Given the description of an element on the screen output the (x, y) to click on. 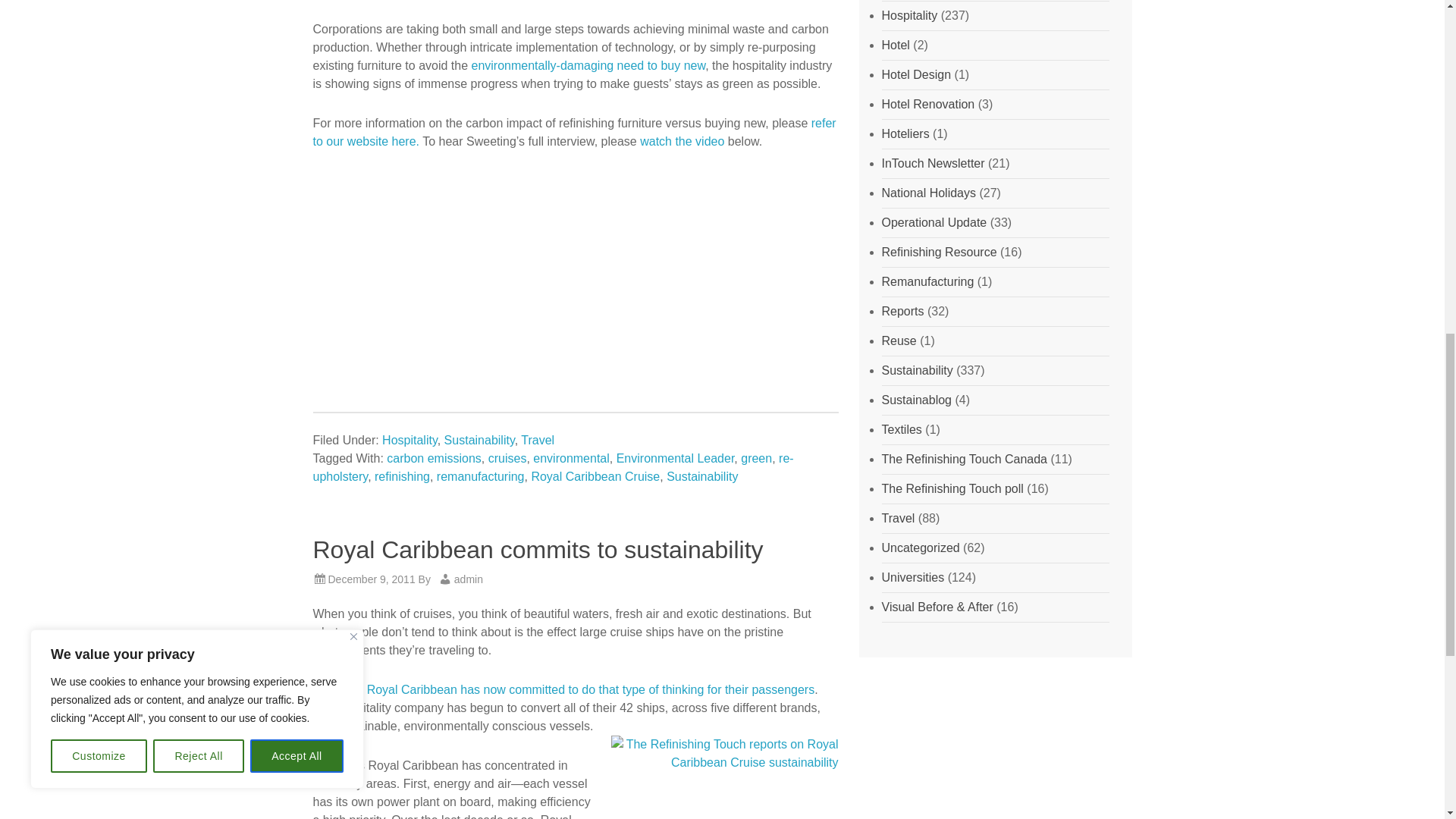
Royal Caribbean sustainability (724, 777)
